Given the description of an element on the screen output the (x, y) to click on. 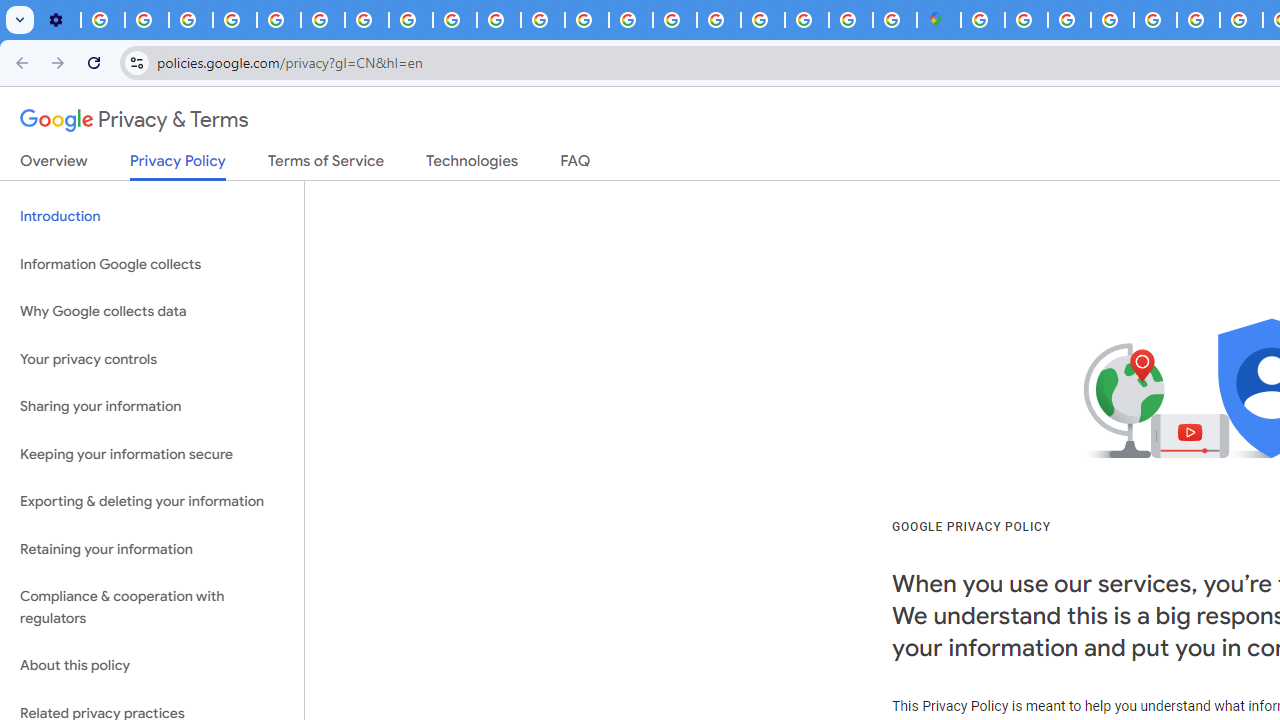
Sign in - Google Accounts (762, 20)
Privacy Help Center - Policies Help (1241, 20)
Google Maps (938, 20)
Delete photos & videos - Computer - Google Photos Help (102, 20)
Sign in - Google Accounts (982, 20)
